Given the description of an element on the screen output the (x, y) to click on. 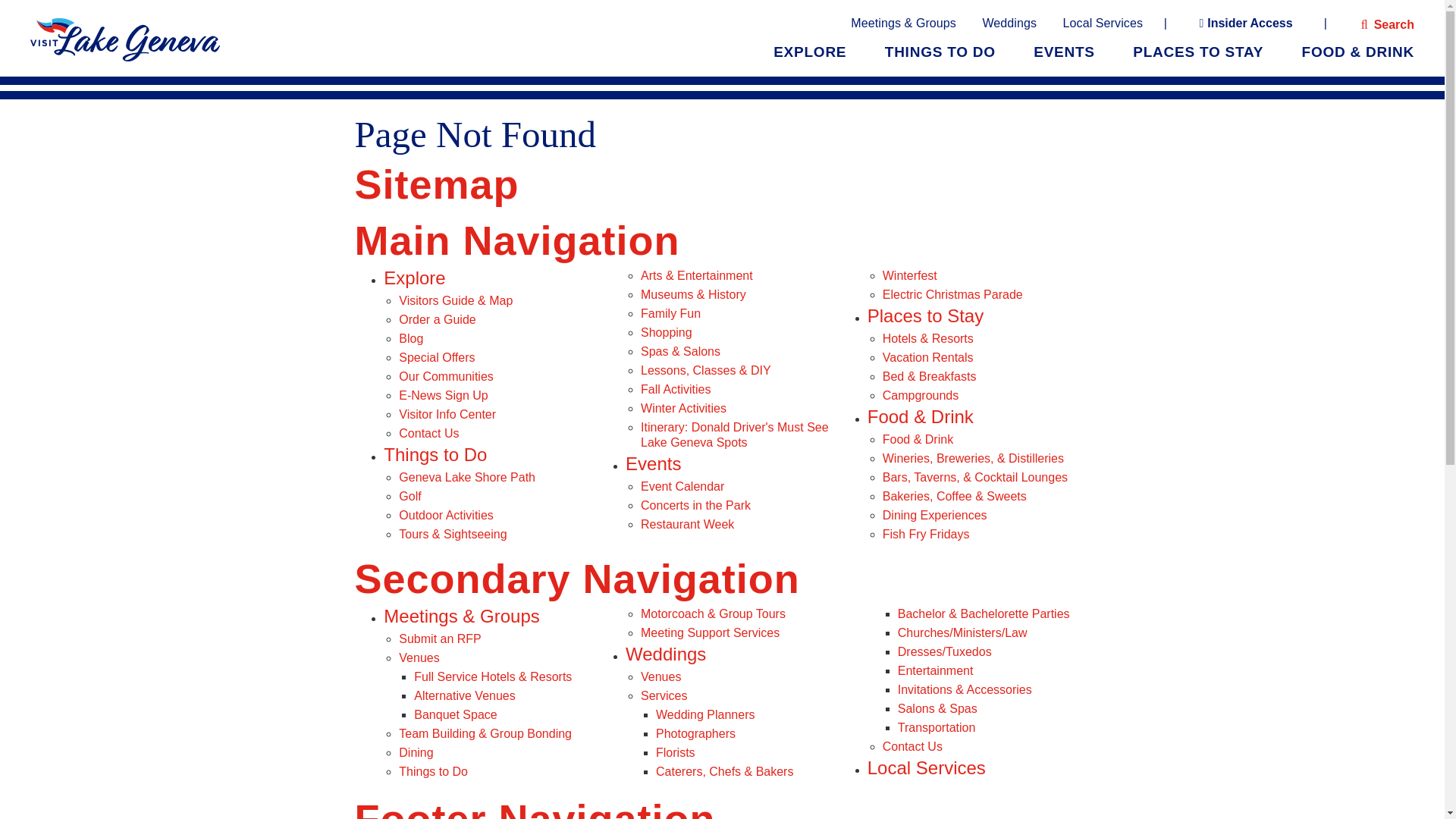
Weddings (1008, 22)
Insider Access (1245, 24)
THINGS TO DO (940, 51)
EXPLORE (809, 51)
EVENTS (1063, 51)
Local Services (1102, 22)
